Given the description of an element on the screen output the (x, y) to click on. 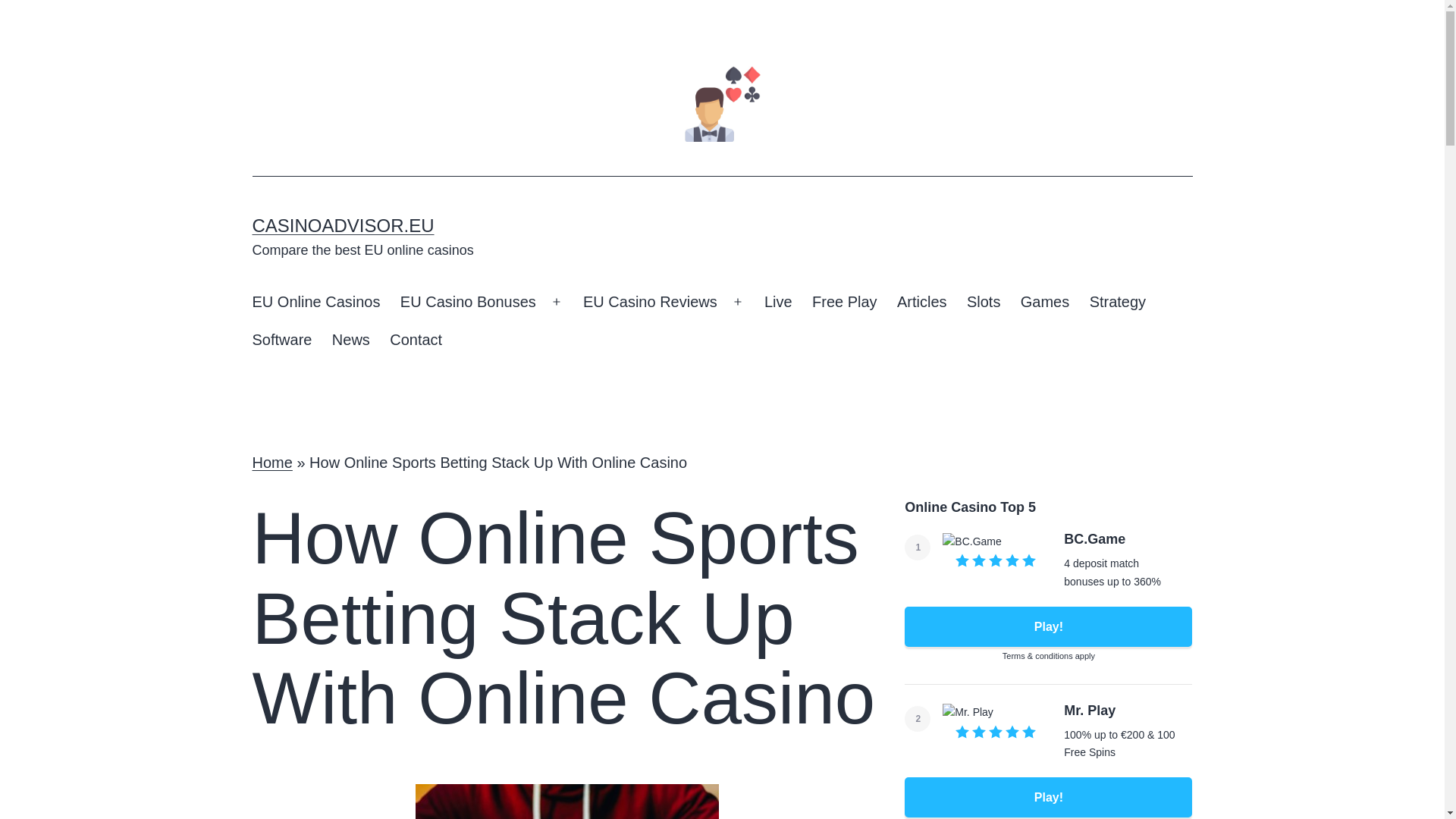
Free Play (844, 301)
EU Online Casinos (315, 301)
Articles (921, 301)
Strategy (1117, 301)
News (350, 339)
Home (271, 462)
Slots (983, 301)
Software (281, 339)
Play! (1048, 797)
Games (1045, 301)
